Given the description of an element on the screen output the (x, y) to click on. 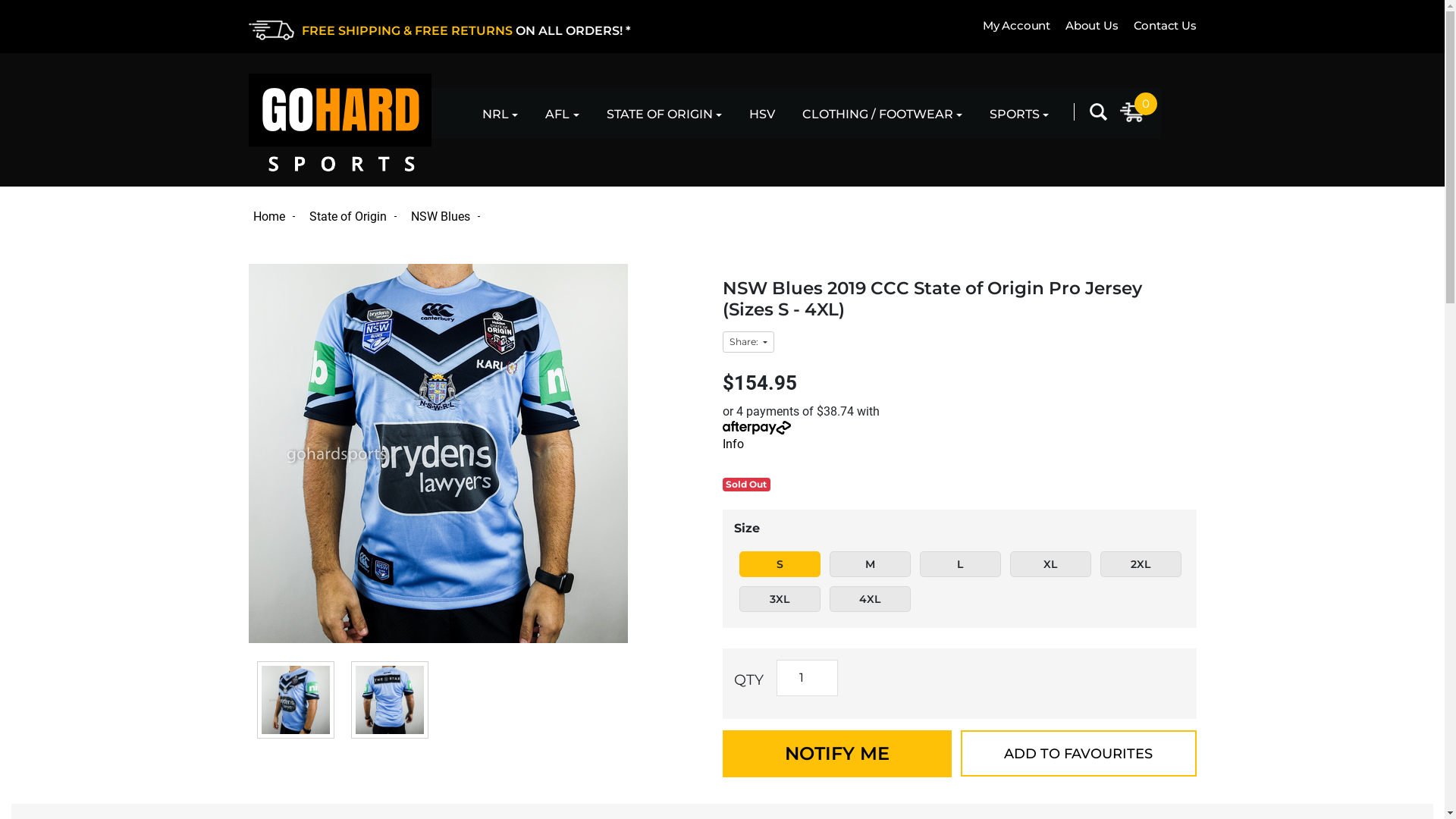
Product main image Element type: hover (477, 453)
SPORTS Element type: text (1018, 113)
0 Element type: text (1132, 112)
NSW Blues Element type: text (447, 216)
NOTIFY ME Element type: text (835, 753)
NRL Element type: text (499, 113)
ADD TO FAVOURITES Element type: text (1077, 753)
HSV Element type: text (762, 113)
CLOTHING / FOOTWEAR Element type: text (882, 113)
Go Hard Sports Element type: hover (339, 122)
Contact Us Element type: text (1156, 25)
State of Origin Element type: text (355, 216)
My Account Element type: text (1008, 25)
About Us Element type: text (1083, 25)
Info Element type: text (732, 443)
Share: Element type: text (747, 341)
Home Element type: text (276, 216)
FREE SHIPPING & FREE RETURNS ON ALL ORDERS! * Element type: text (485, 30)
STATE OF ORIGIN Element type: text (663, 113)
AFL Element type: text (561, 113)
